Given the description of an element on the screen output the (x, y) to click on. 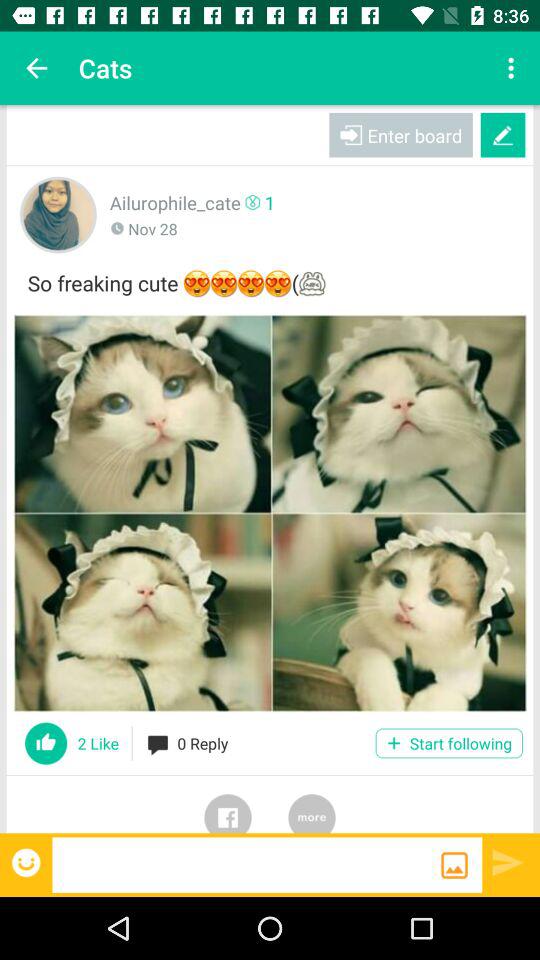
message box (246, 864)
